Given the description of an element on the screen output the (x, y) to click on. 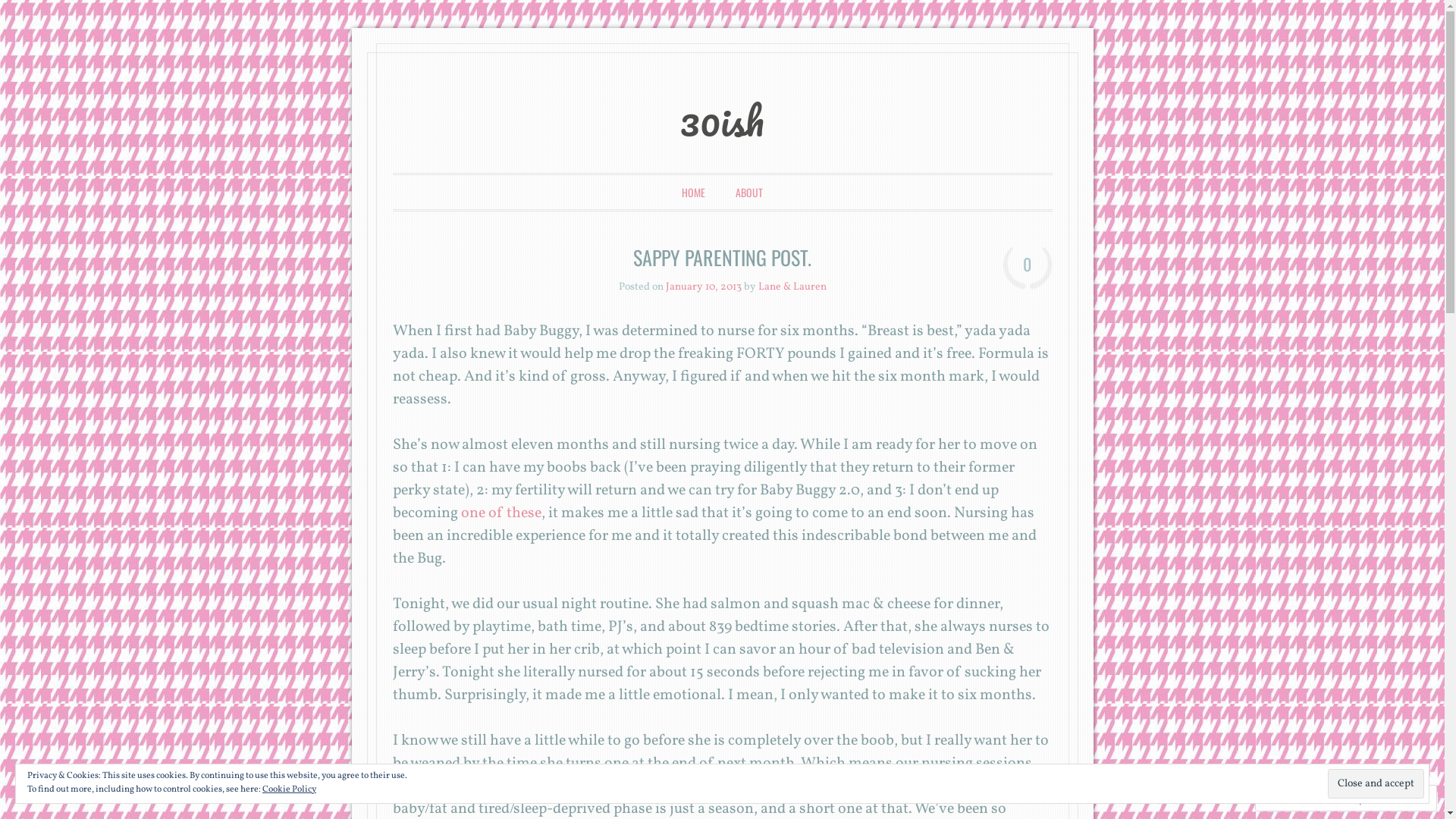
one of these Element type: text (499, 513)
Follow Element type: text (1372, 797)
Close and accept Element type: text (1375, 783)
Search Element type: text (33, 13)
Lane & Lauren Element type: text (792, 286)
0 Element type: text (1027, 267)
30ish Element type: text (722, 120)
Comment Element type: text (1296, 797)
Cookie Policy Element type: text (289, 789)
ABOUT Element type: text (749, 191)
January 10, 2013 Element type: text (703, 286)
SKIP TO CONTENT Element type: text (442, 191)
HOME Element type: text (693, 191)
